Given the description of an element on the screen output the (x, y) to click on. 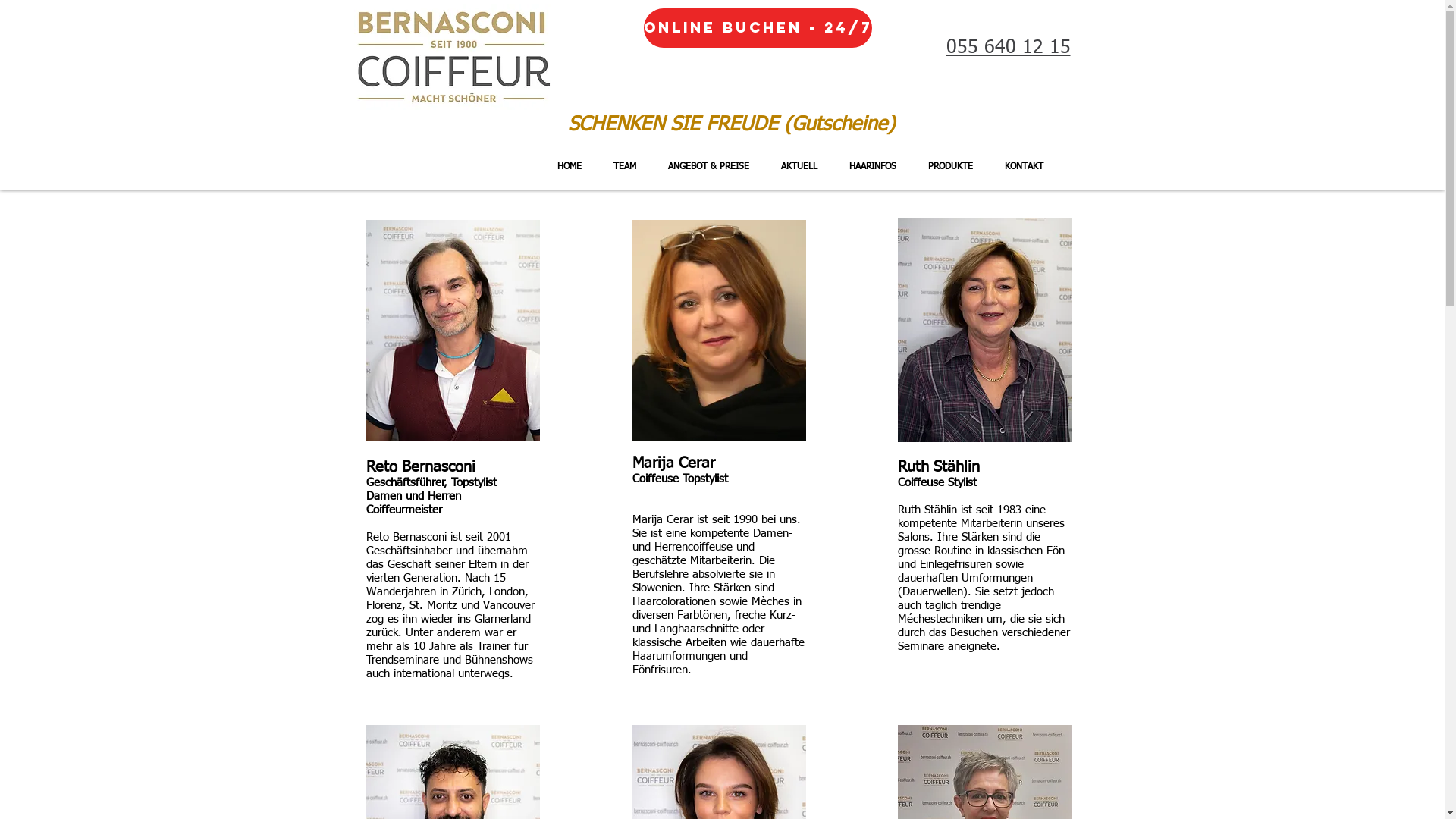
HOME Element type: text (569, 166)
055 640 12 15 Element type: text (1008, 47)
PRODUKTE Element type: text (949, 166)
ANGEBOT & PREISE Element type: text (708, 166)
KONTAKT Element type: text (1023, 166)
online buchen - 24/7 Element type: text (757, 27)
HAARINFOS Element type: text (871, 166)
TEAM Element type: text (624, 166)
AKTUELL Element type: text (798, 166)
SCHENKEN SIE FREUDE (Gutscheine) Element type: text (730, 124)
